Given the description of an element on the screen output the (x, y) to click on. 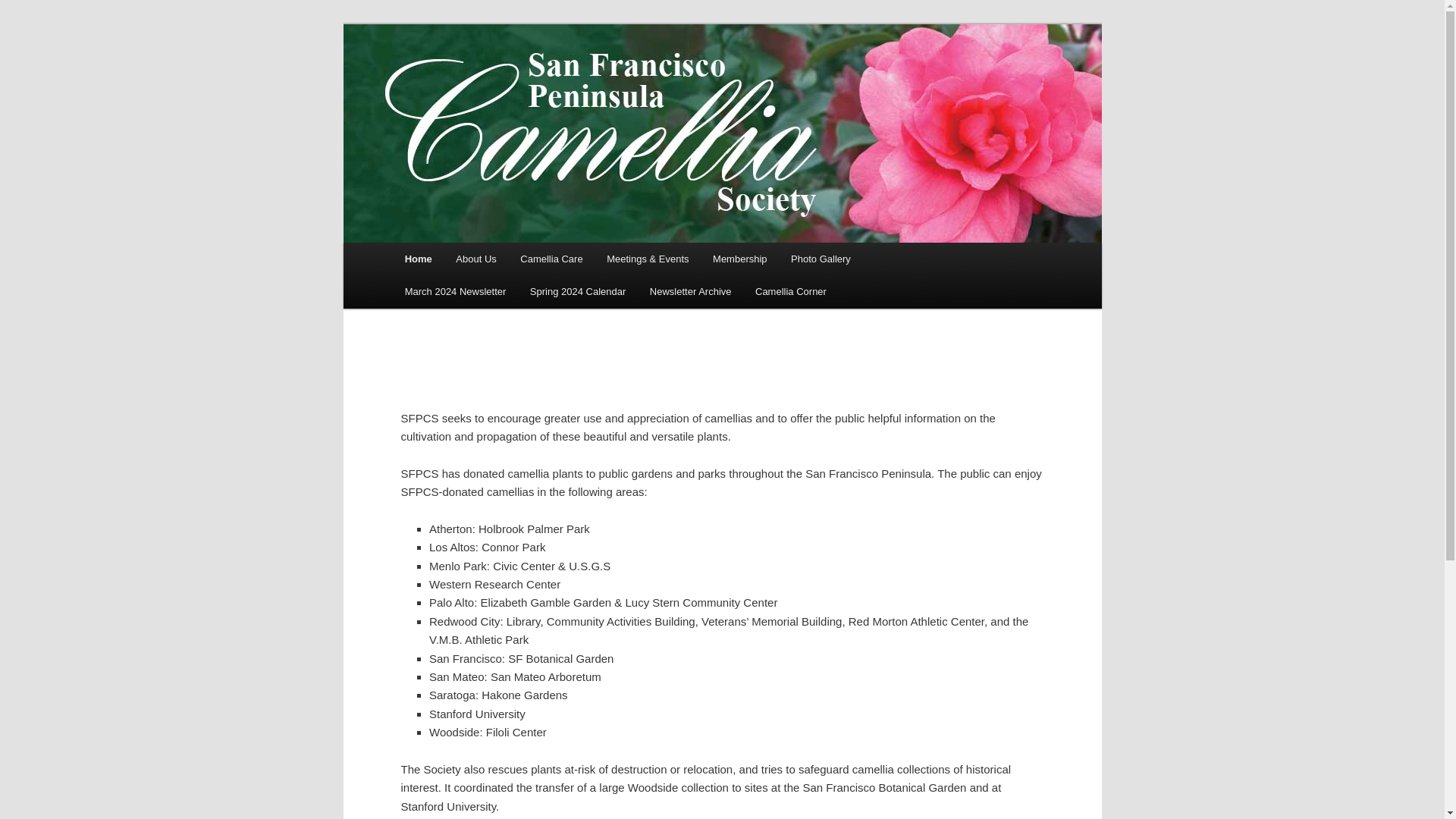
Photo Gallery (819, 258)
Newsletter Archive (689, 291)
March 2024 Newsletter (455, 291)
Camellia Care (551, 258)
Home (418, 258)
Spring 2024 Calendar (577, 291)
San Francisco Peninsula Camellia Society (628, 78)
Membership (739, 258)
About Us (476, 258)
